Given the description of an element on the screen output the (x, y) to click on. 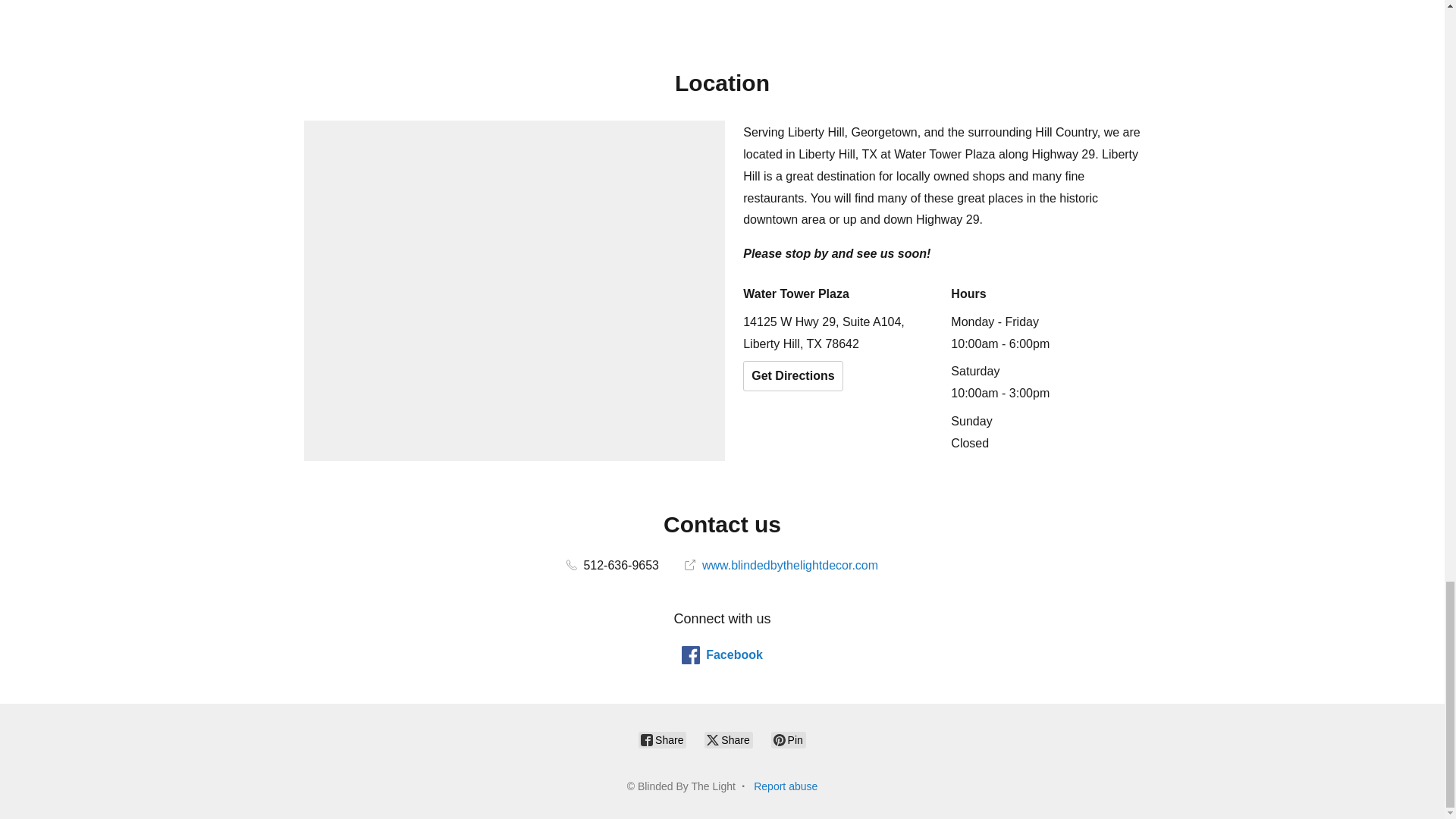
Facebook (721, 655)
www.blindedbythelightdecor.com (780, 564)
Share (728, 740)
Pin (788, 740)
512-636-9653 (612, 564)
Get Directions (792, 376)
Share (662, 740)
Report abuse (785, 786)
